Given the description of an element on the screen output the (x, y) to click on. 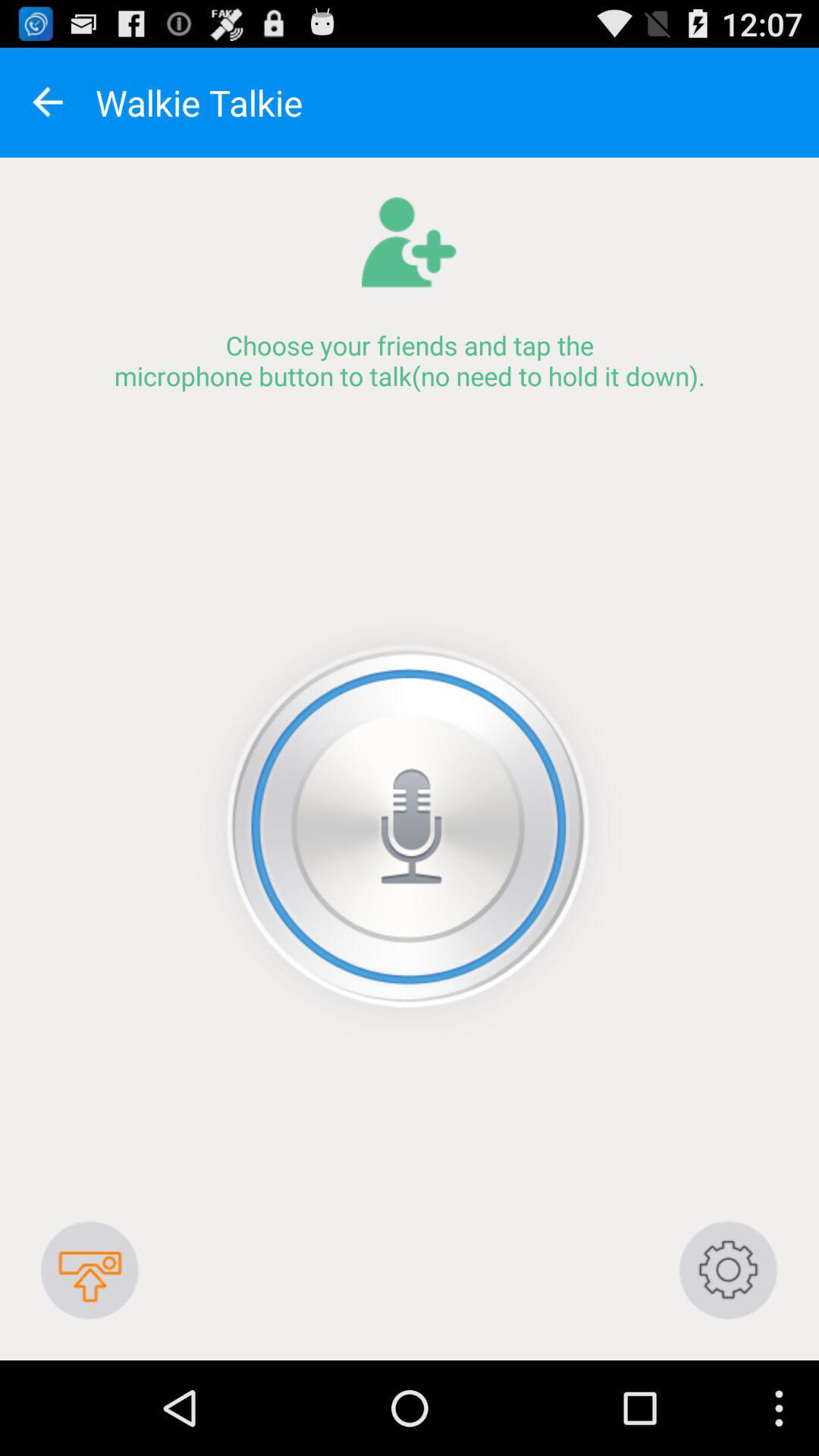
start voice record (408, 826)
